Given the description of an element on the screen output the (x, y) to click on. 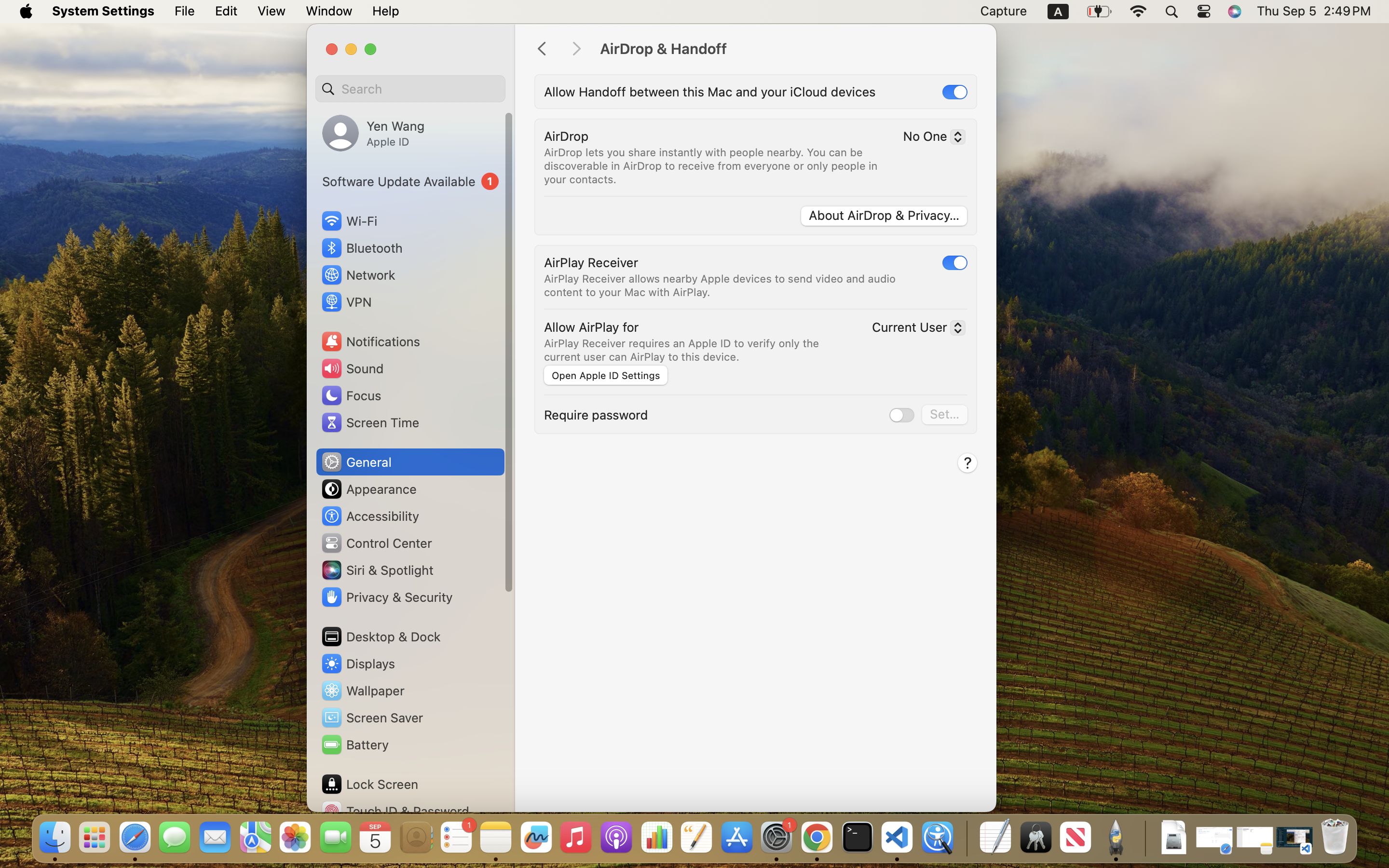
Desktop & Dock Element type: AXStaticText (380, 636)
1 Element type: AXStaticText (410, 180)
